Given the description of an element on the screen output the (x, y) to click on. 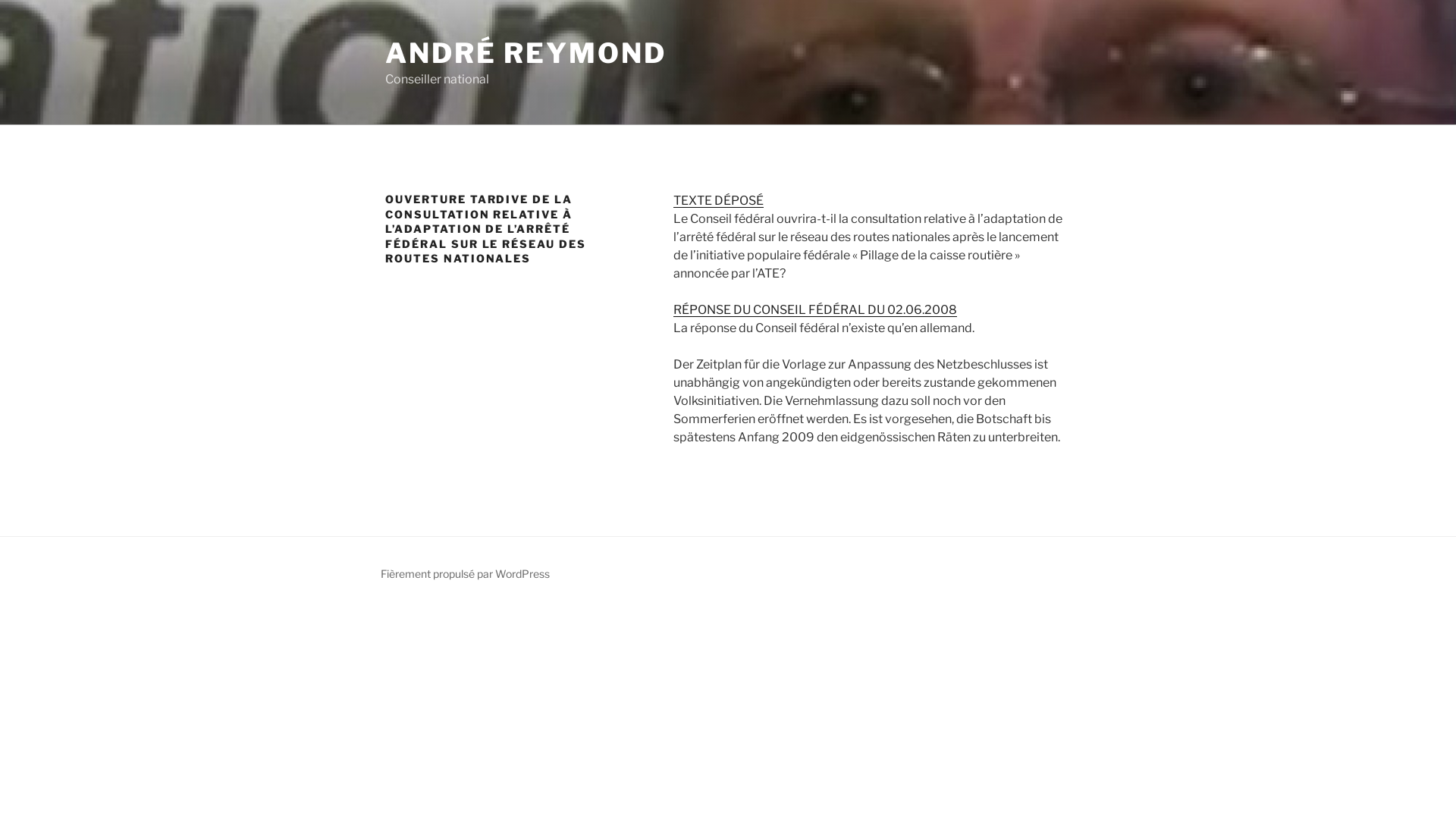
Aller au contenu principal Element type: text (0, 0)
